Given the description of an element on the screen output the (x, y) to click on. 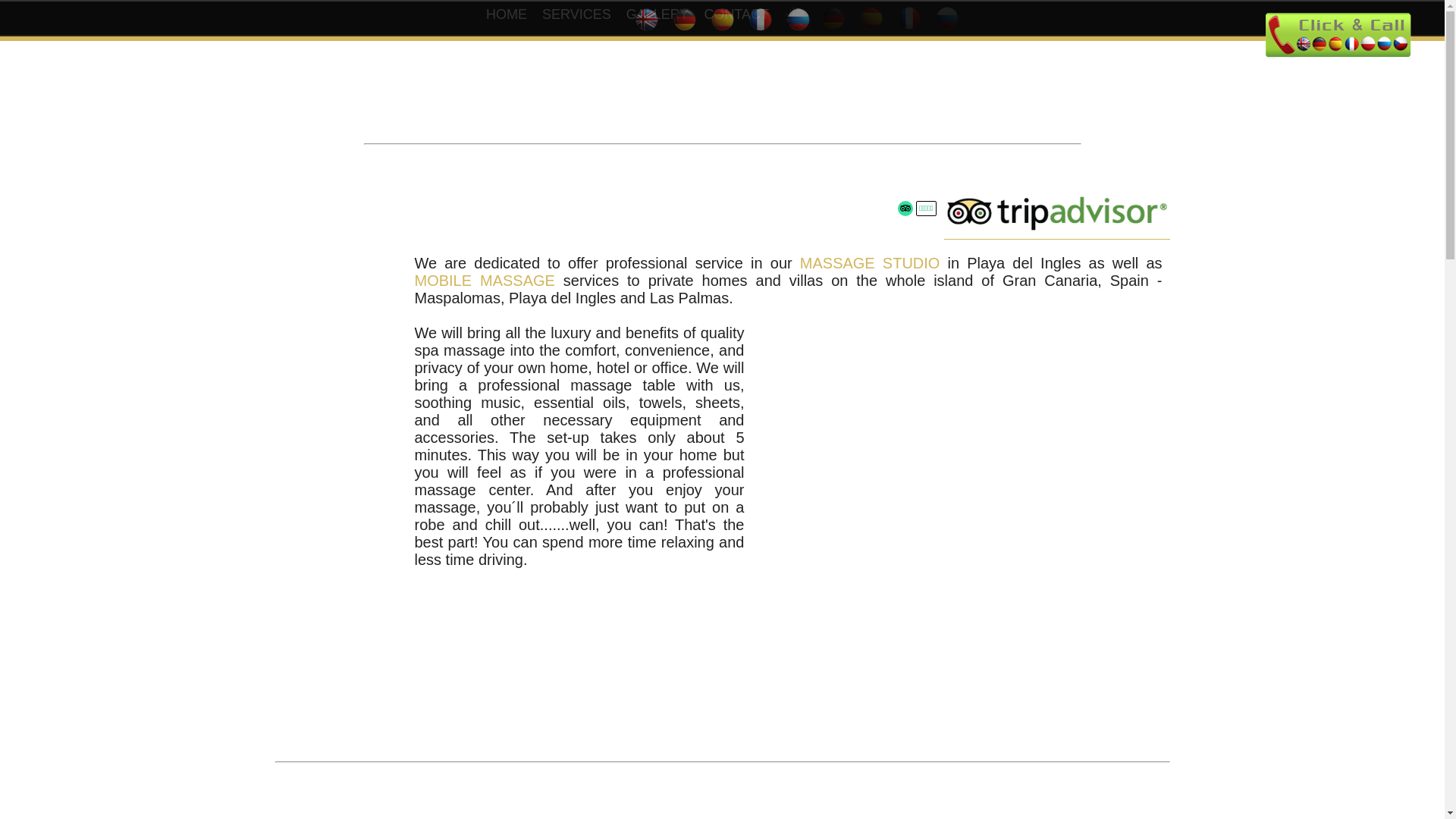
Leer opiniones de Tripadvisor  (905, 208)
HOME (506, 14)
SERVICES (576, 14)
GALLERY (657, 14)
CONTACT (735, 14)
